Given the description of an element on the screen output the (x, y) to click on. 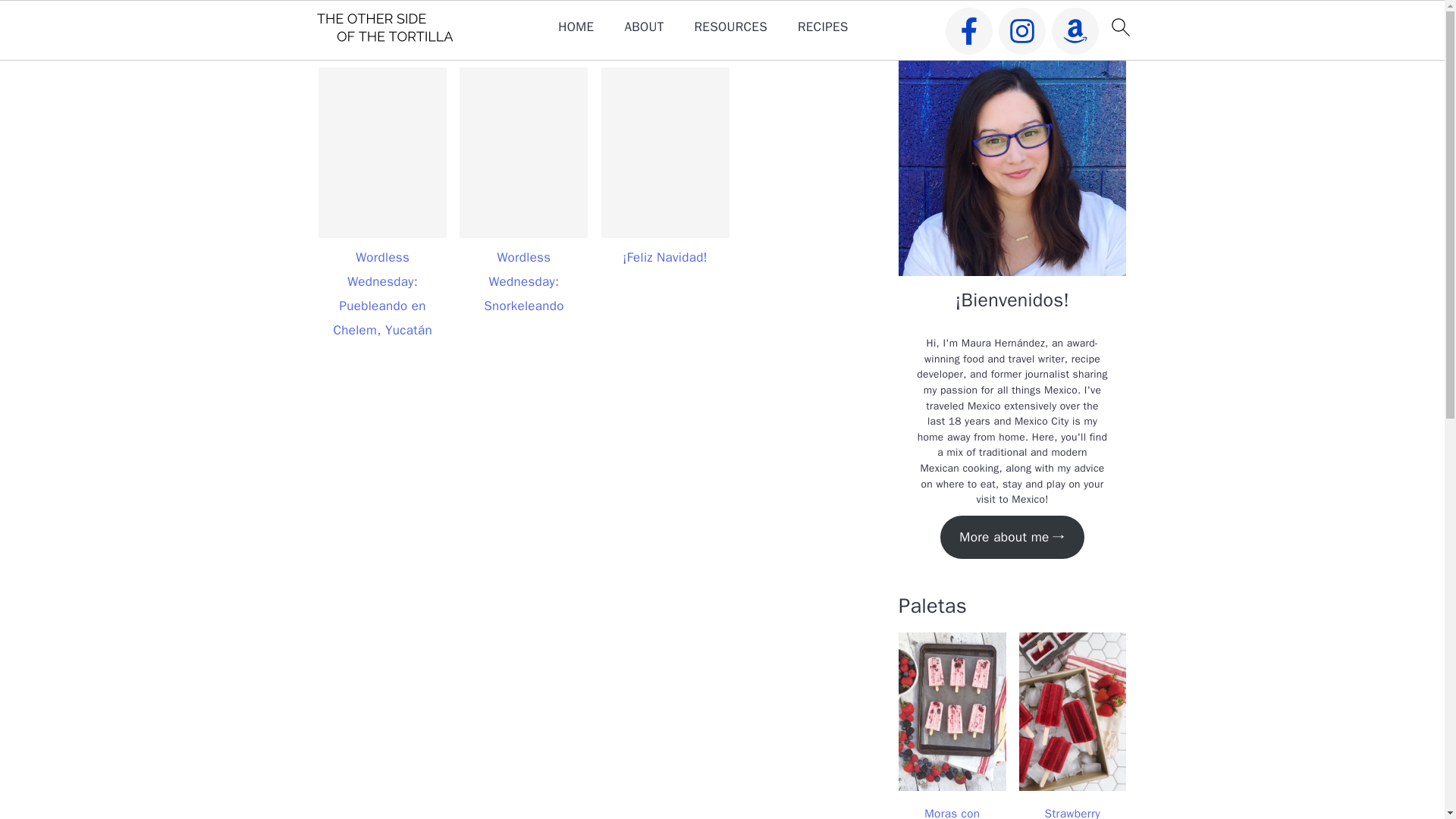
ABOUT (643, 27)
RESOURCES (730, 27)
search icon (1119, 26)
More about me (1011, 536)
HOME (575, 27)
RECIPES (822, 27)
